Given the description of an element on the screen output the (x, y) to click on. 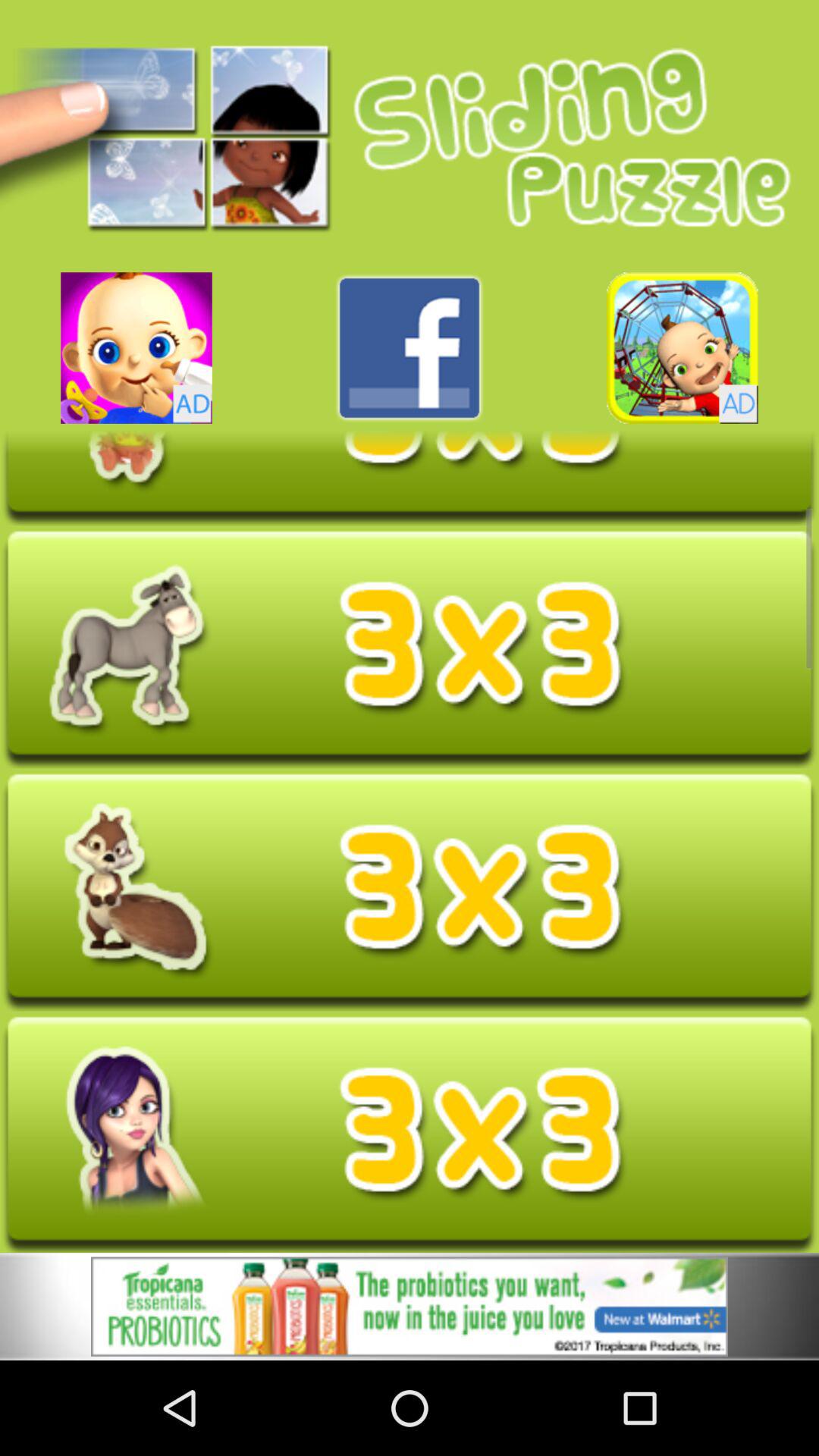
advertisement banner icon (409, 1306)
